Given the description of an element on the screen output the (x, y) to click on. 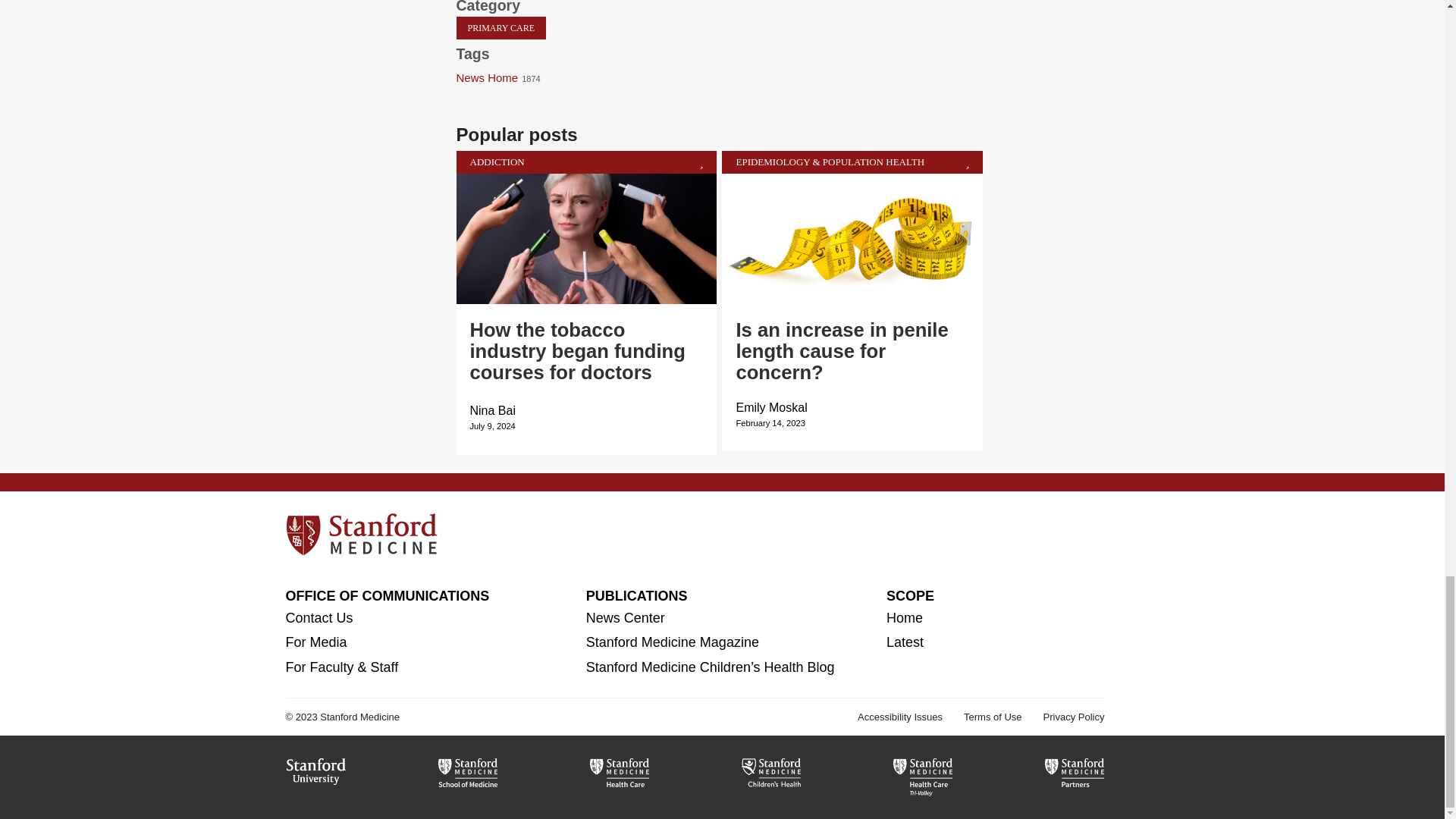
Contact Us (318, 617)
Nina Bai (492, 410)
How the tobacco industry began funding courses for doctors (577, 351)
News Home1874 (504, 77)
For Media (315, 642)
News Center (625, 617)
Is an increase in penile length cause for concern? (841, 351)
Emily Moskal (770, 407)
PRIMARY CARE (502, 27)
